Given the description of an element on the screen output the (x, y) to click on. 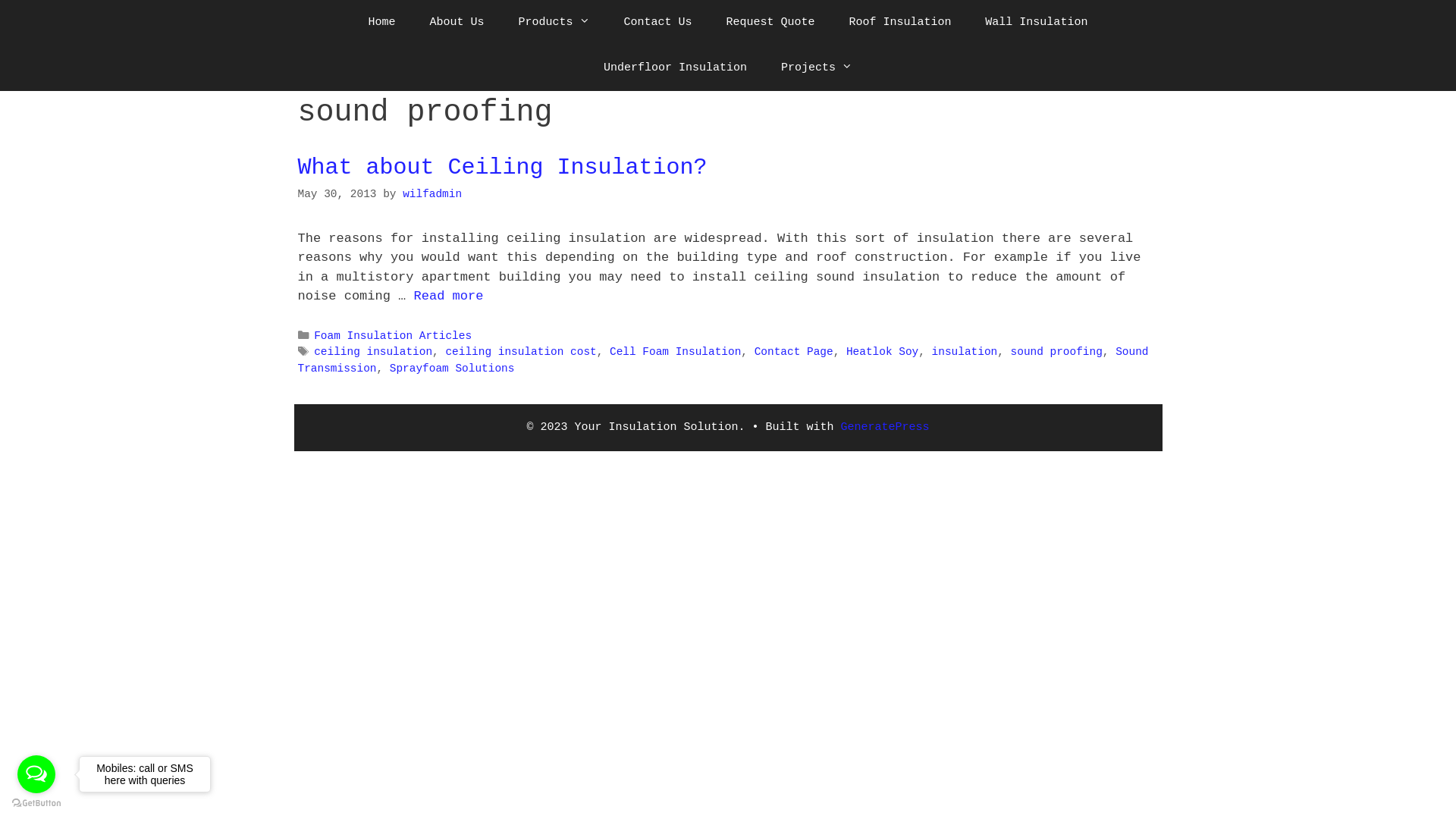
Sprayfoam Solutions Element type: text (451, 368)
What about Ceiling Insulation? Element type: text (501, 167)
wilfadmin Element type: text (431, 194)
GeneratePress Element type: text (884, 426)
Products Element type: text (554, 22)
Sound Transmission Element type: text (722, 359)
insulation Element type: text (964, 351)
Underfloor Insulation Element type: text (675, 68)
Wall Insulation Element type: text (1035, 22)
Contact Us Element type: text (657, 22)
Roof Insulation Element type: text (899, 22)
Read more Element type: text (448, 295)
Contact Page Element type: text (793, 351)
Home Element type: text (382, 22)
Projects Element type: text (816, 68)
ceiling insulation Element type: text (372, 351)
About Us Element type: text (456, 22)
Heatlok Soy Element type: text (882, 351)
ceiling insulation cost Element type: text (520, 351)
sound proofing Element type: text (1056, 351)
Cell Foam Insulation Element type: text (674, 351)
Request Quote Element type: text (769, 22)
Foam Insulation Articles Element type: text (392, 335)
